Given the description of an element on the screen output the (x, y) to click on. 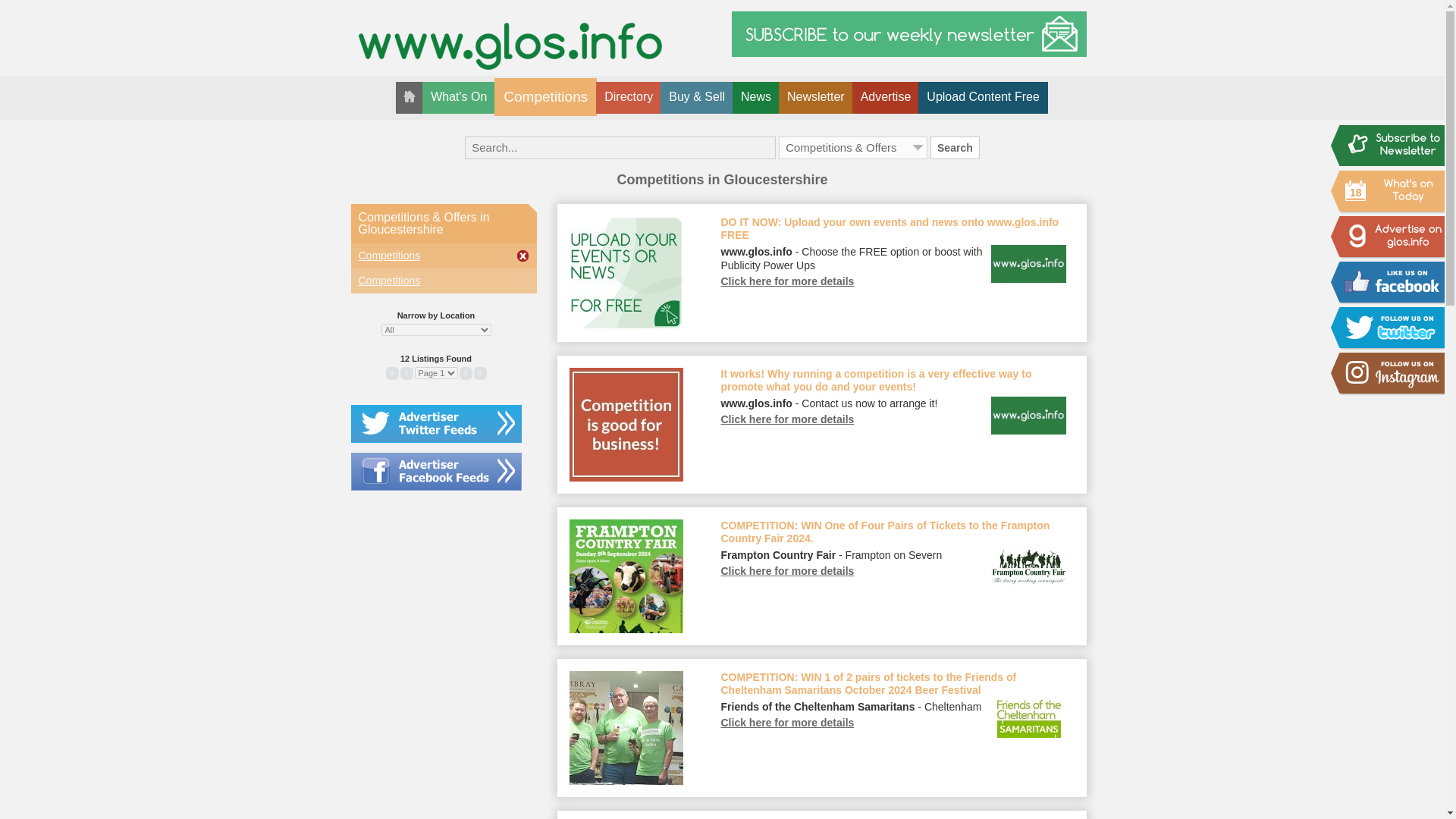
Competitions (545, 96)
Sign up for www.glos.info weekly newsletter (908, 33)
What's On (458, 97)
Directory (628, 97)
